Given the description of an element on the screen output the (x, y) to click on. 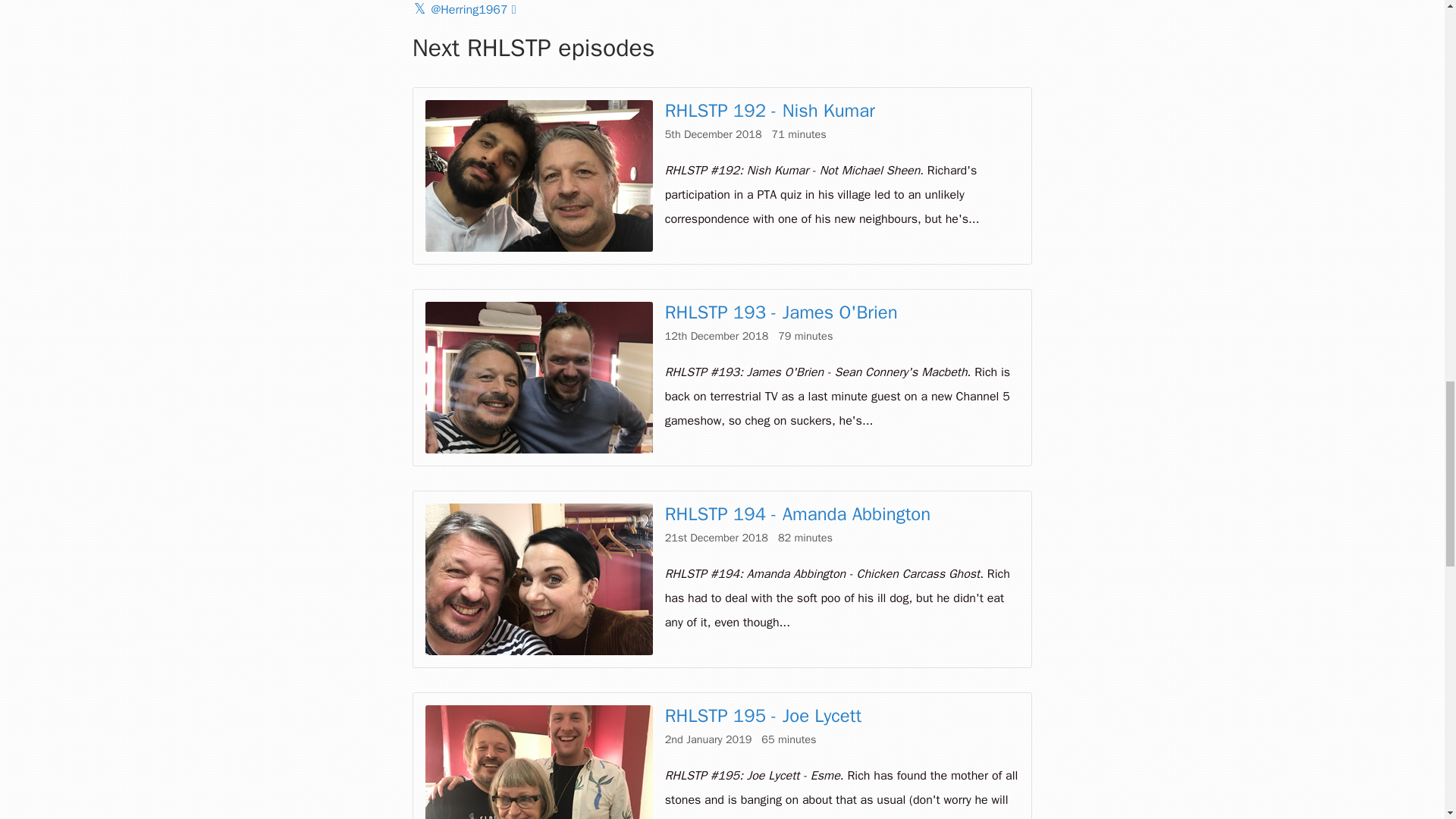
RHLSTP 195 - Joe Lycett (763, 715)
RHLSTP 194 - Amanda Abbington (797, 513)
RHLSTP 193 - James O'Brien (781, 312)
RHLSTP 192 - Nish Kumar (770, 110)
